Given the description of an element on the screen output the (x, y) to click on. 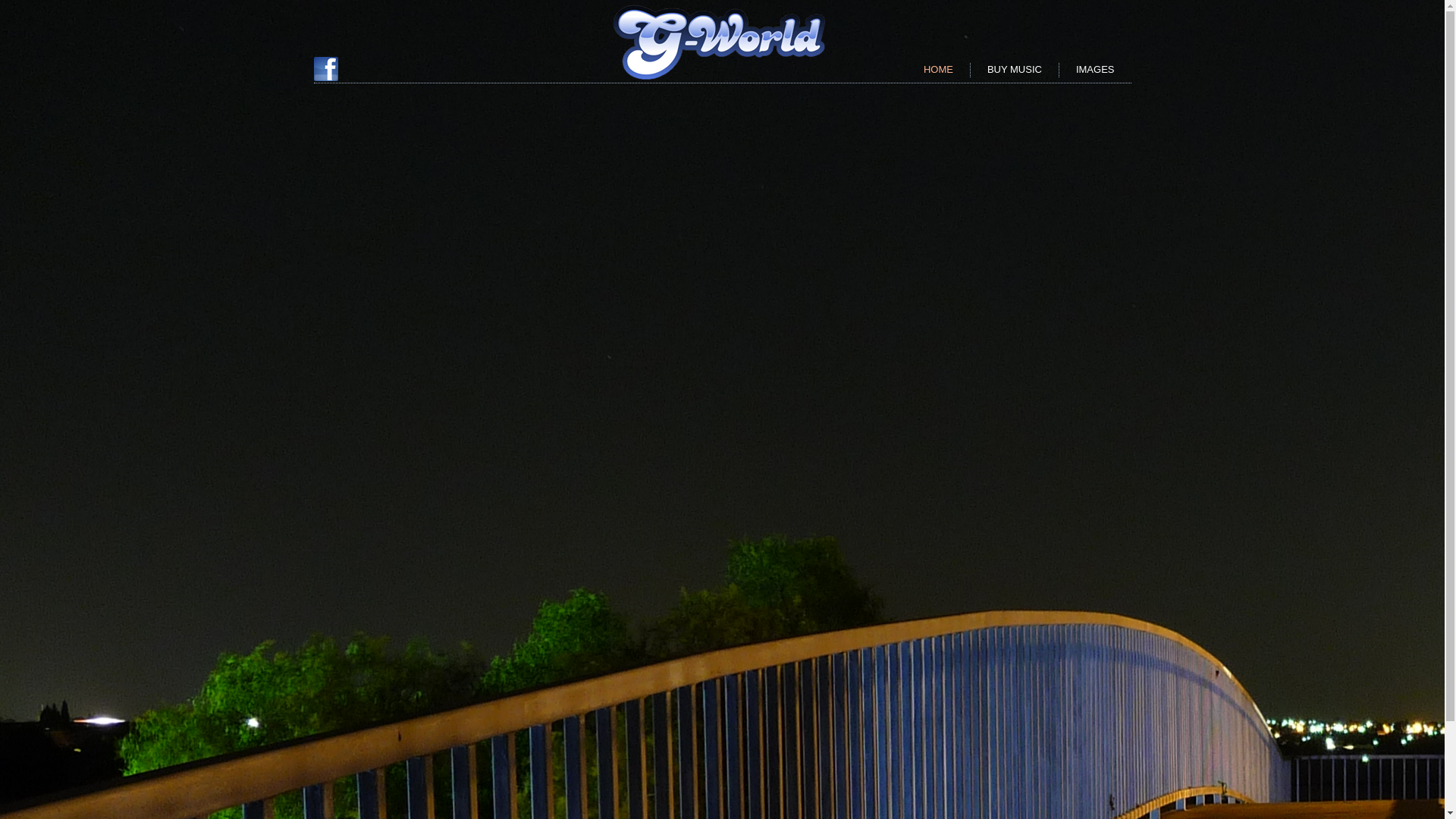
IMAGES Element type: text (1095, 69)
BUY MUSIC Element type: text (1014, 69)
HOME Element type: text (938, 69)
